Given the description of an element on the screen output the (x, y) to click on. 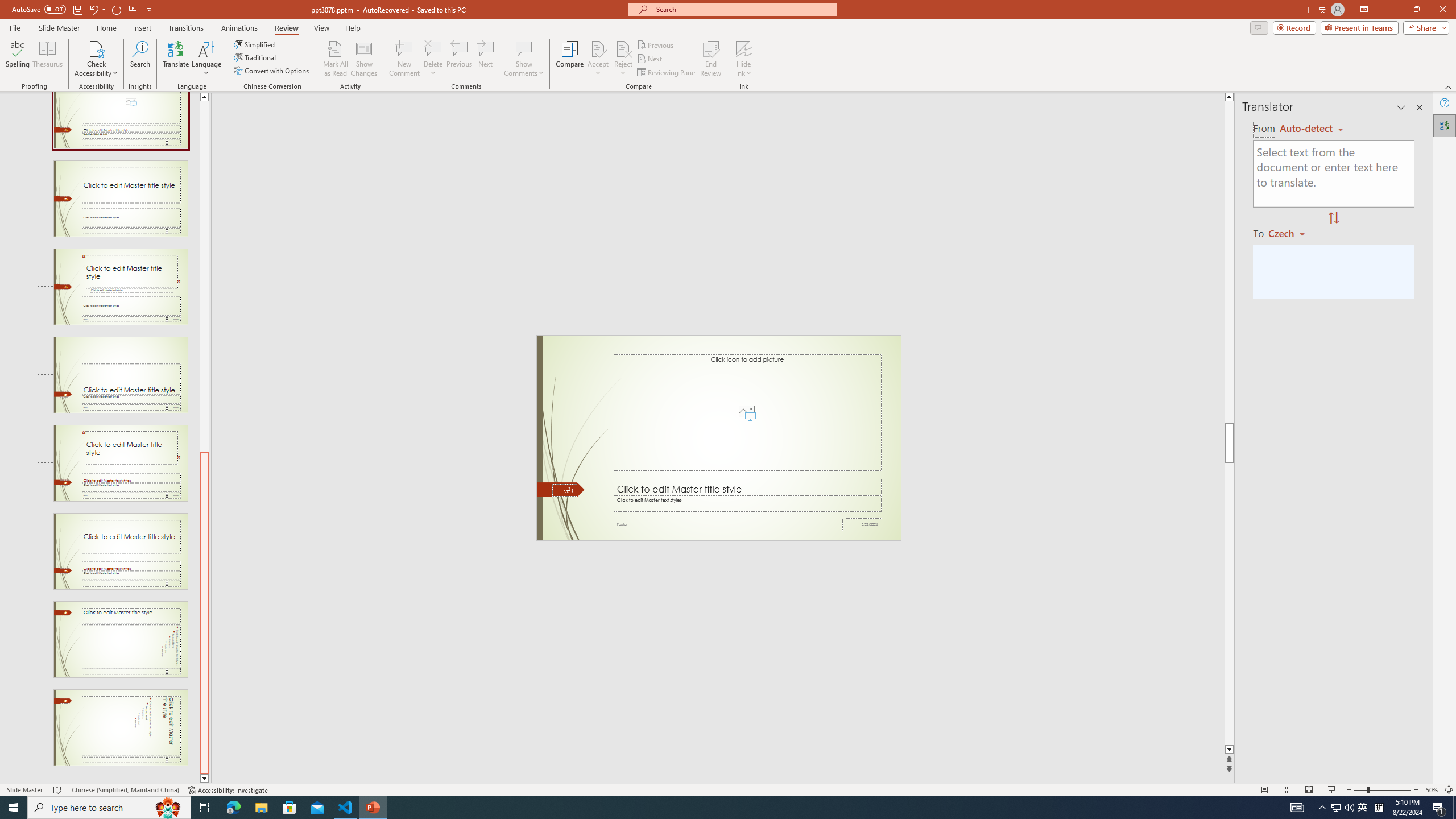
Delete (432, 58)
Language (206, 58)
Translator (1444, 125)
Check Accessibility (95, 58)
English (1310, 128)
Reject (622, 58)
Reject Change (622, 48)
Search (140, 58)
Zoom 50% (1431, 790)
Delete (432, 48)
